Given the description of an element on the screen output the (x, y) to click on. 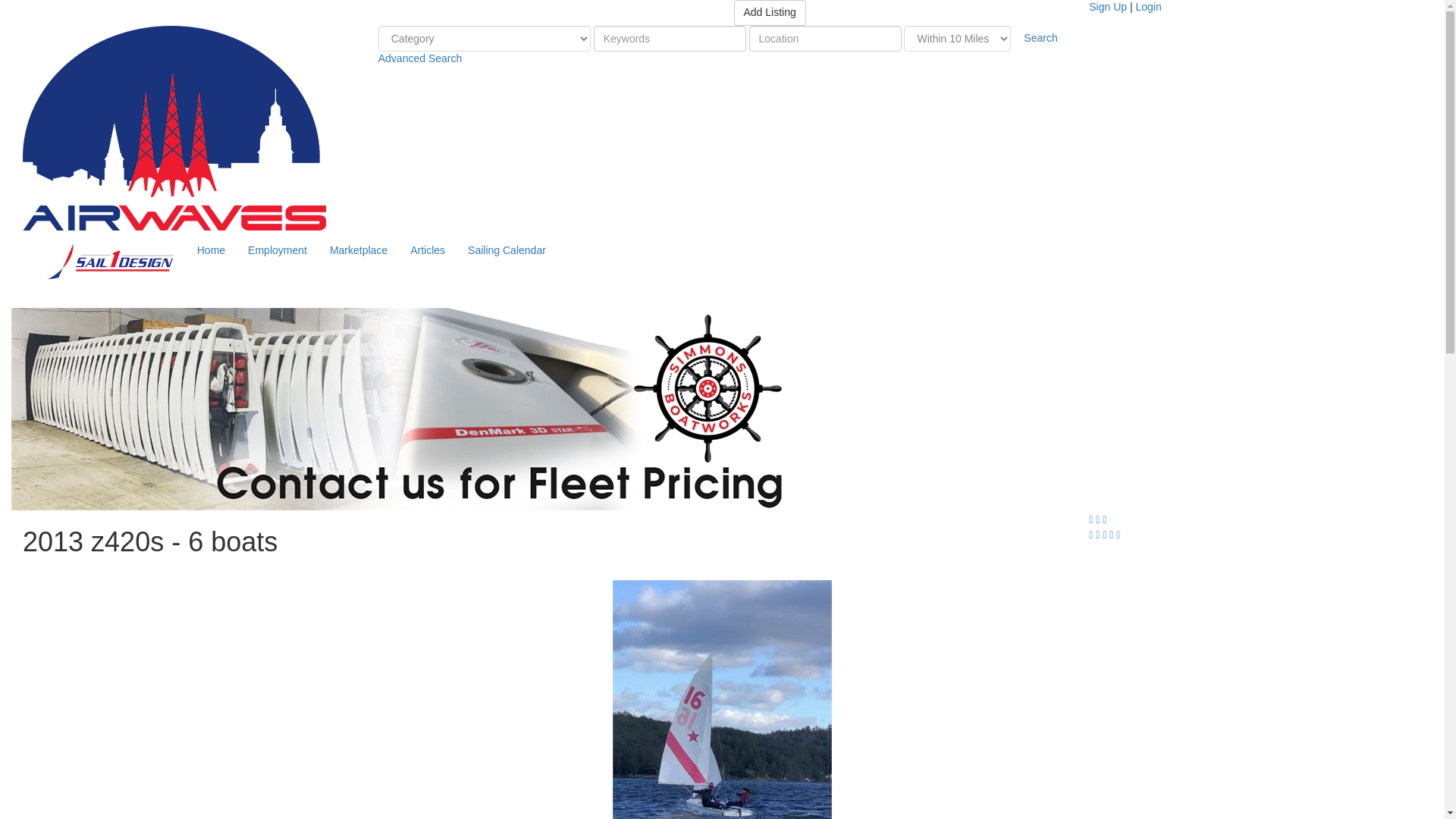
Print Listing (1097, 518)
2013 z420s - 6 boats (721, 699)
Articles (427, 249)
Search (1040, 38)
Login (1147, 6)
Employment (276, 249)
Sailing Calendar (507, 249)
Sign Up (1107, 6)
Marketplace (358, 249)
Report Listing (1104, 518)
Add Listing (769, 12)
Favorites (1092, 518)
Home (210, 249)
Sail 1 Design Marketplace (174, 127)
Advanced Search (420, 58)
